Given the description of an element on the screen output the (x, y) to click on. 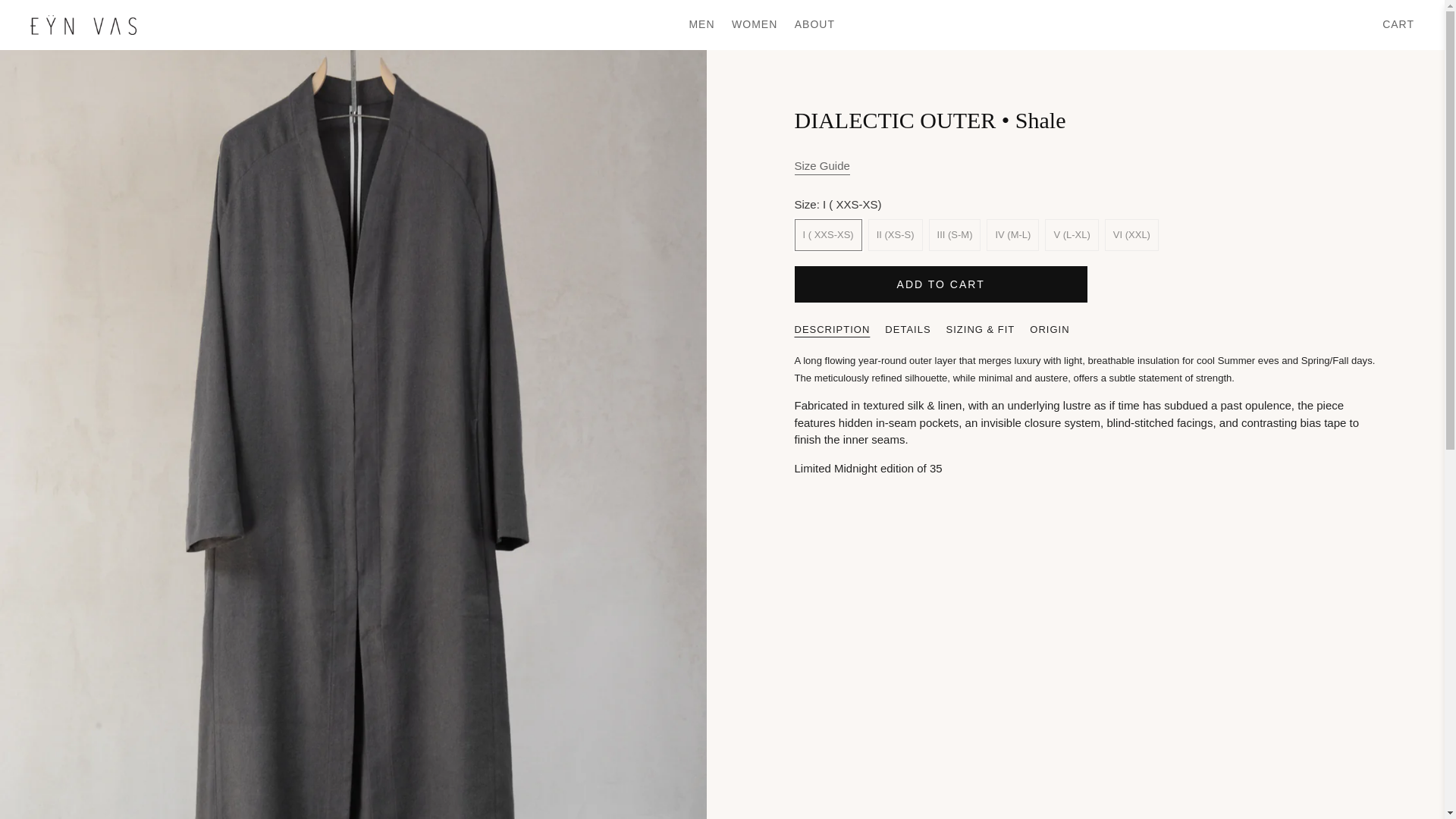
ABOUT (814, 24)
MEN (701, 24)
CART (1397, 24)
WOMEN (754, 24)
Size Guide (822, 167)
ADD TO CART (940, 284)
